Given the description of an element on the screen output the (x, y) to click on. 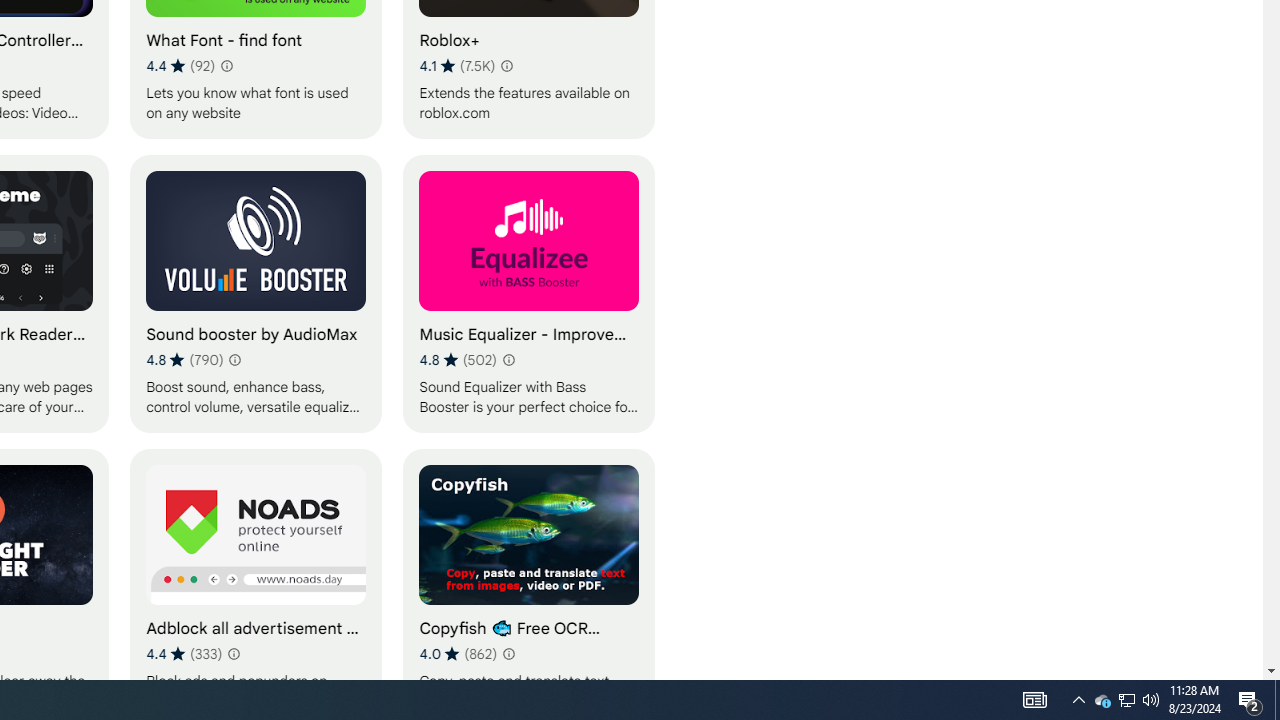
Average rating 4.8 out of 5 stars. 790 ratings. (184, 359)
Sound booster by AudioMax (256, 293)
Average rating 4.8 out of 5 stars. 502 ratings. (457, 359)
Learn more about results and reviews "Roblox+" (506, 65)
Average rating 4.1 out of 5 stars. 7.5K ratings. (457, 66)
Average rating 4.4 out of 5 stars. 333 ratings. (183, 653)
Learn more about results and reviews "What Font - find font" (226, 65)
Average rating 4.4 out of 5 stars. 92 ratings. (180, 66)
Average rating 4.0 out of 5 stars. 862 ratings. (457, 653)
Music Equalizer - Improve Sound for everyone (529, 293)
